Given the description of an element on the screen output the (x, y) to click on. 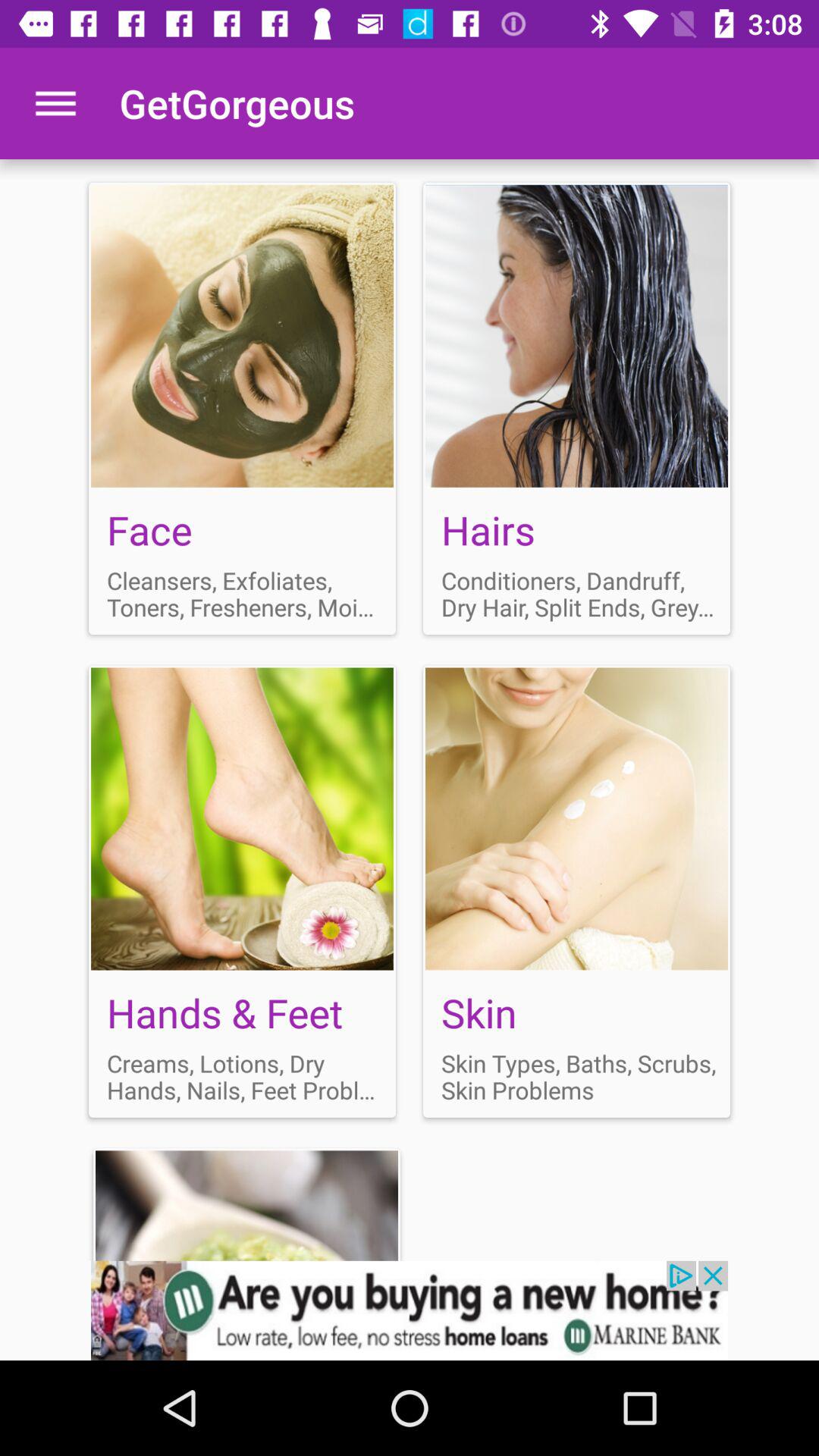
to select options related to skin (576, 891)
